Given the description of an element on the screen output the (x, y) to click on. 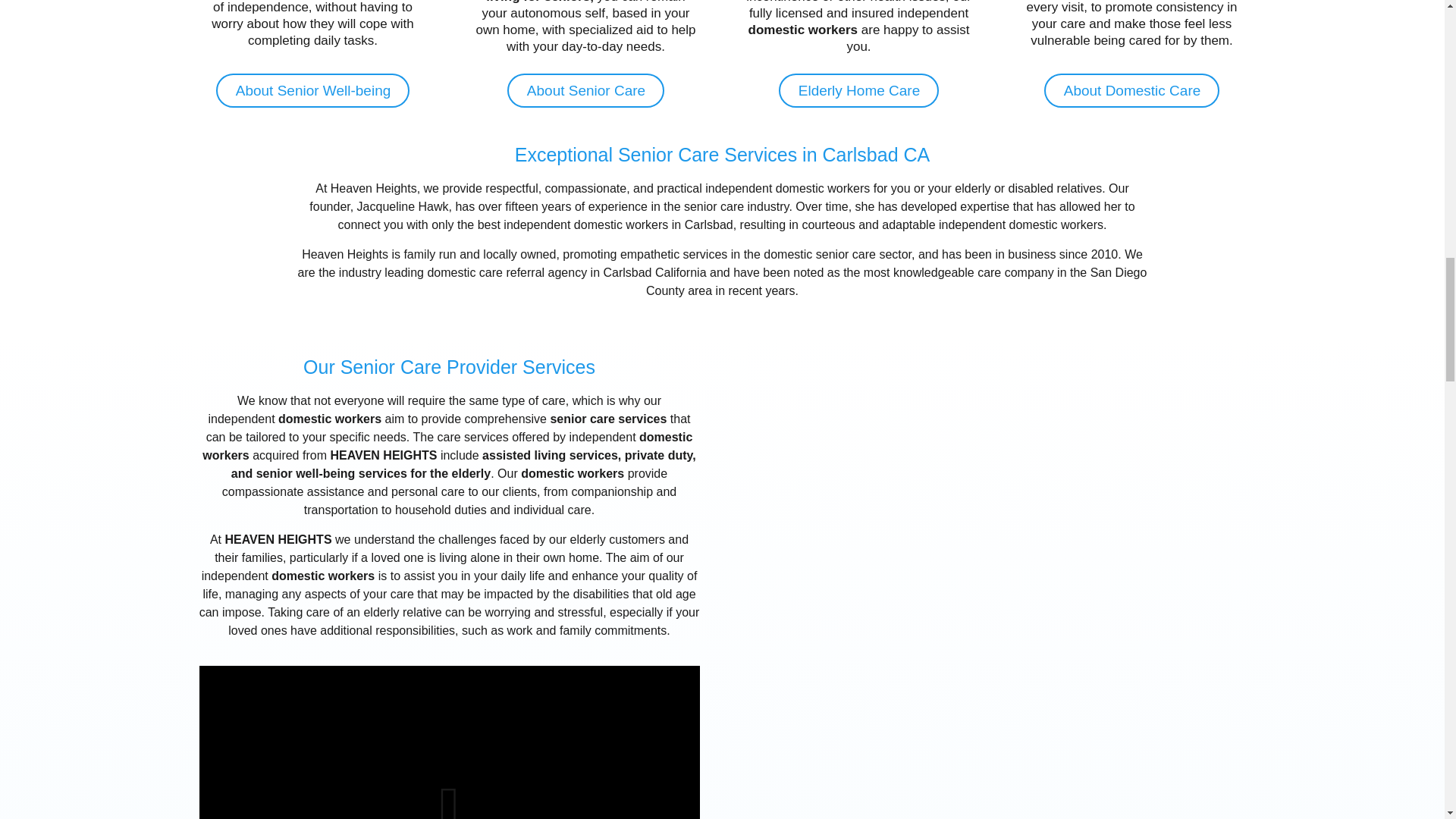
About Senior Care (584, 90)
About Senior Well-being (312, 90)
